Given the description of an element on the screen output the (x, y) to click on. 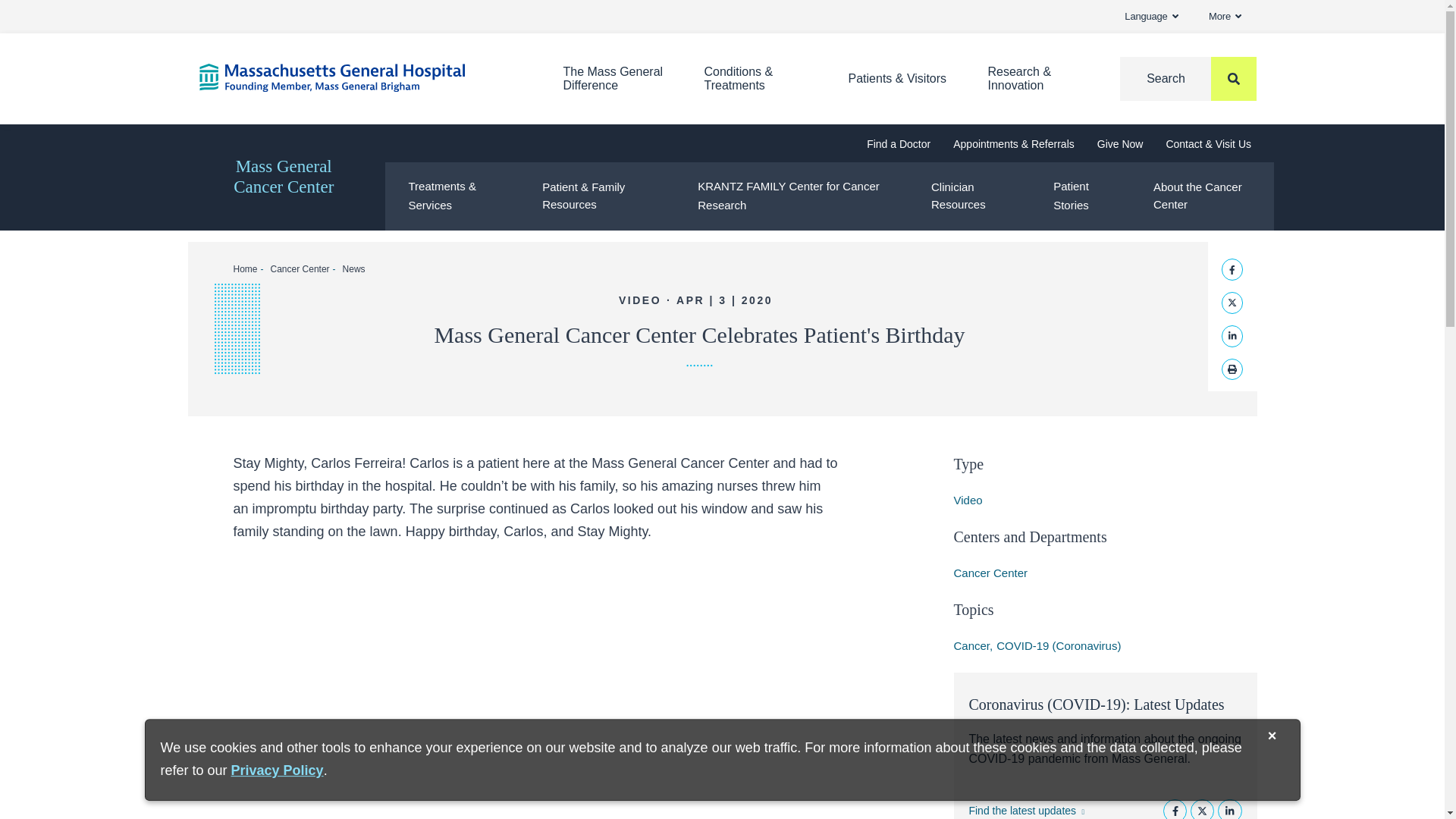
Home (357, 77)
Mass General Cancer Center (282, 177)
More (1224, 16)
Language (1151, 16)
